Given the description of an element on the screen output the (x, y) to click on. 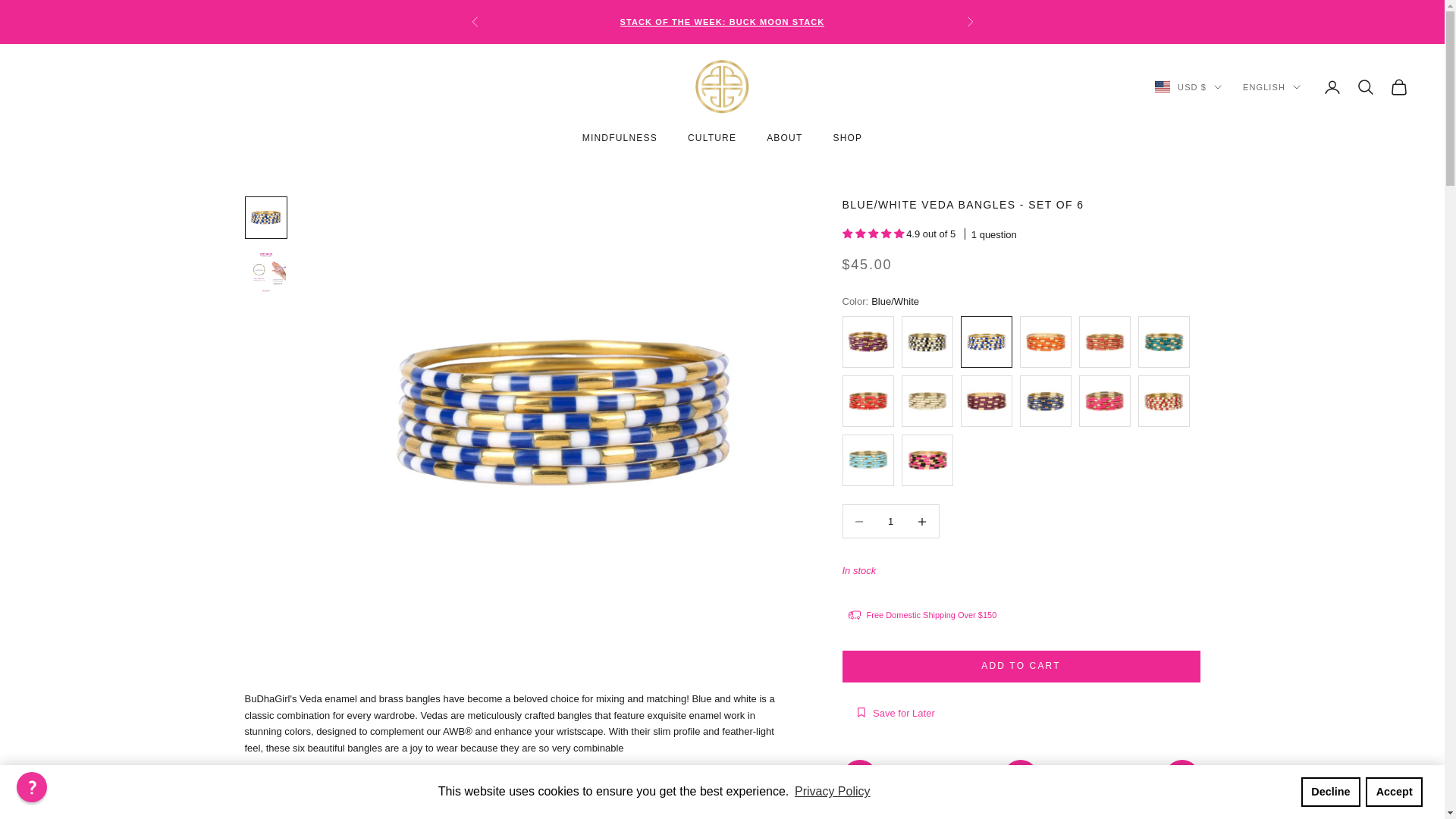
STACK OF THE WEEK: BUCK MOON STACK (722, 21)
Privacy Policy (832, 791)
Decline (1330, 791)
BuDhaGirl (722, 86)
Buck Moon Stack (722, 21)
Accept (1393, 791)
1 (890, 521)
